Given the description of an element on the screen output the (x, y) to click on. 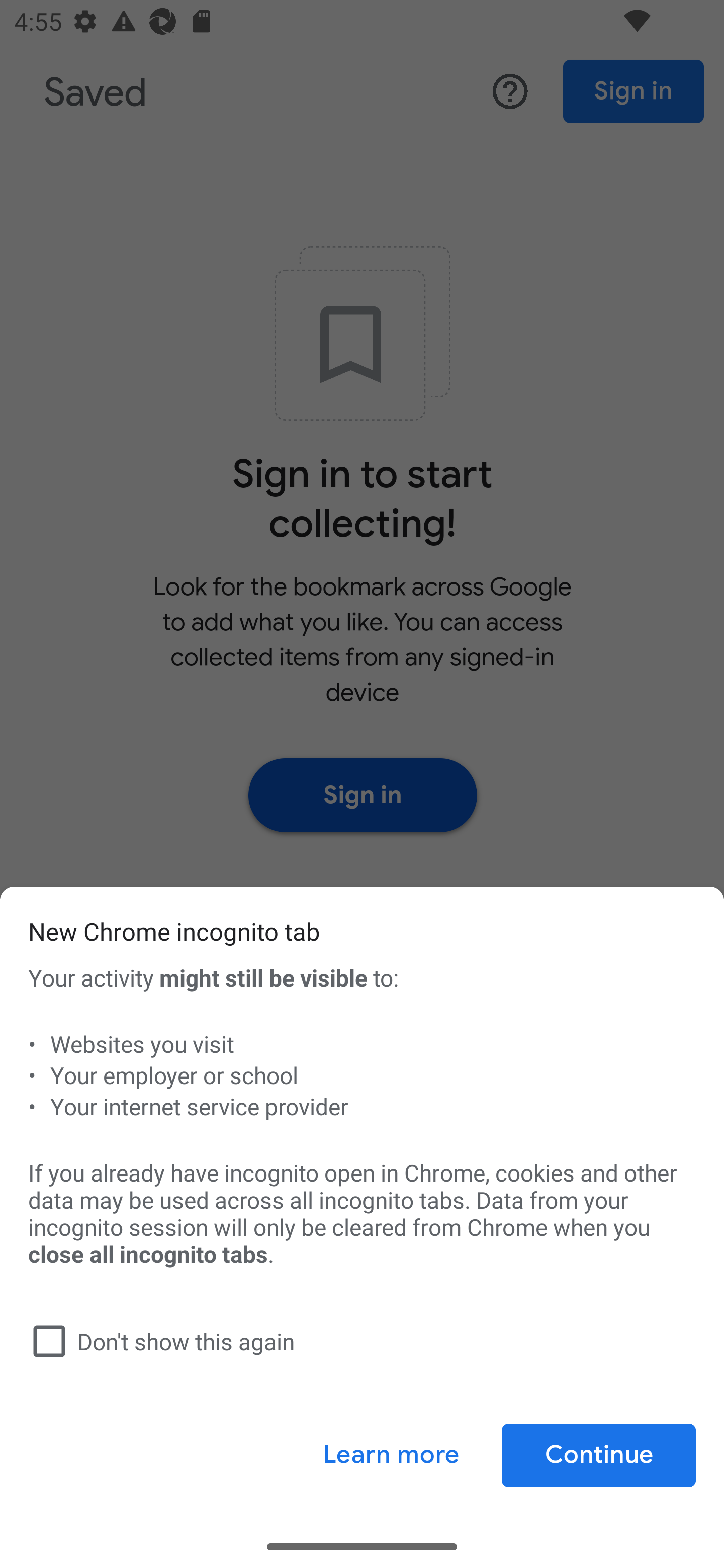
Don't show this again (357, 1341)
Learn more (390, 1454)
Continue (598, 1454)
